Given the description of an element on the screen output the (x, y) to click on. 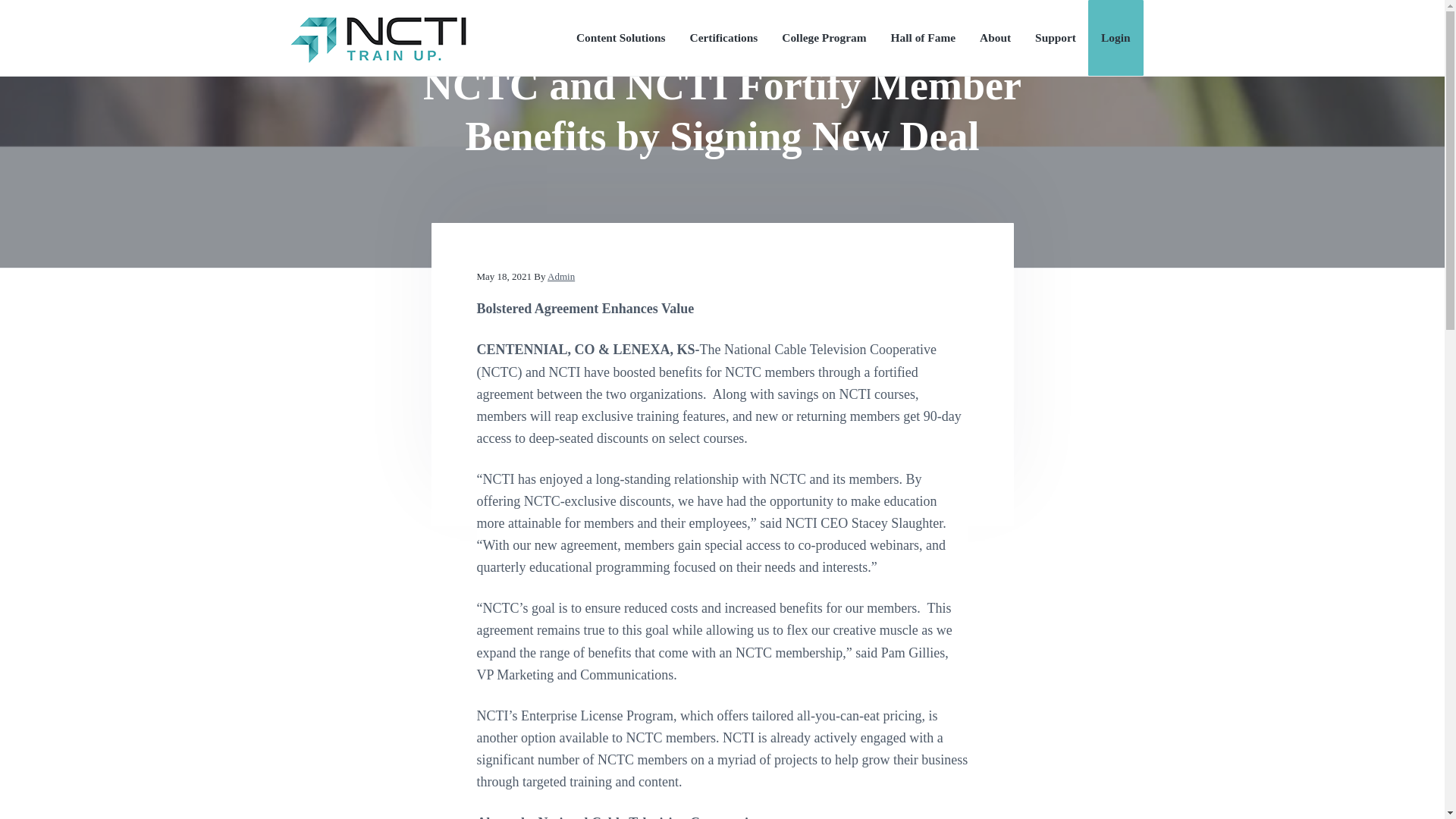
College Program (823, 37)
Admin (561, 276)
Support (1055, 37)
About (994, 37)
Login (1115, 37)
Hall of Fame (923, 37)
Certifications (724, 37)
Content Solutions (620, 37)
Search (60, 18)
